Given the description of an element on the screen output the (x, y) to click on. 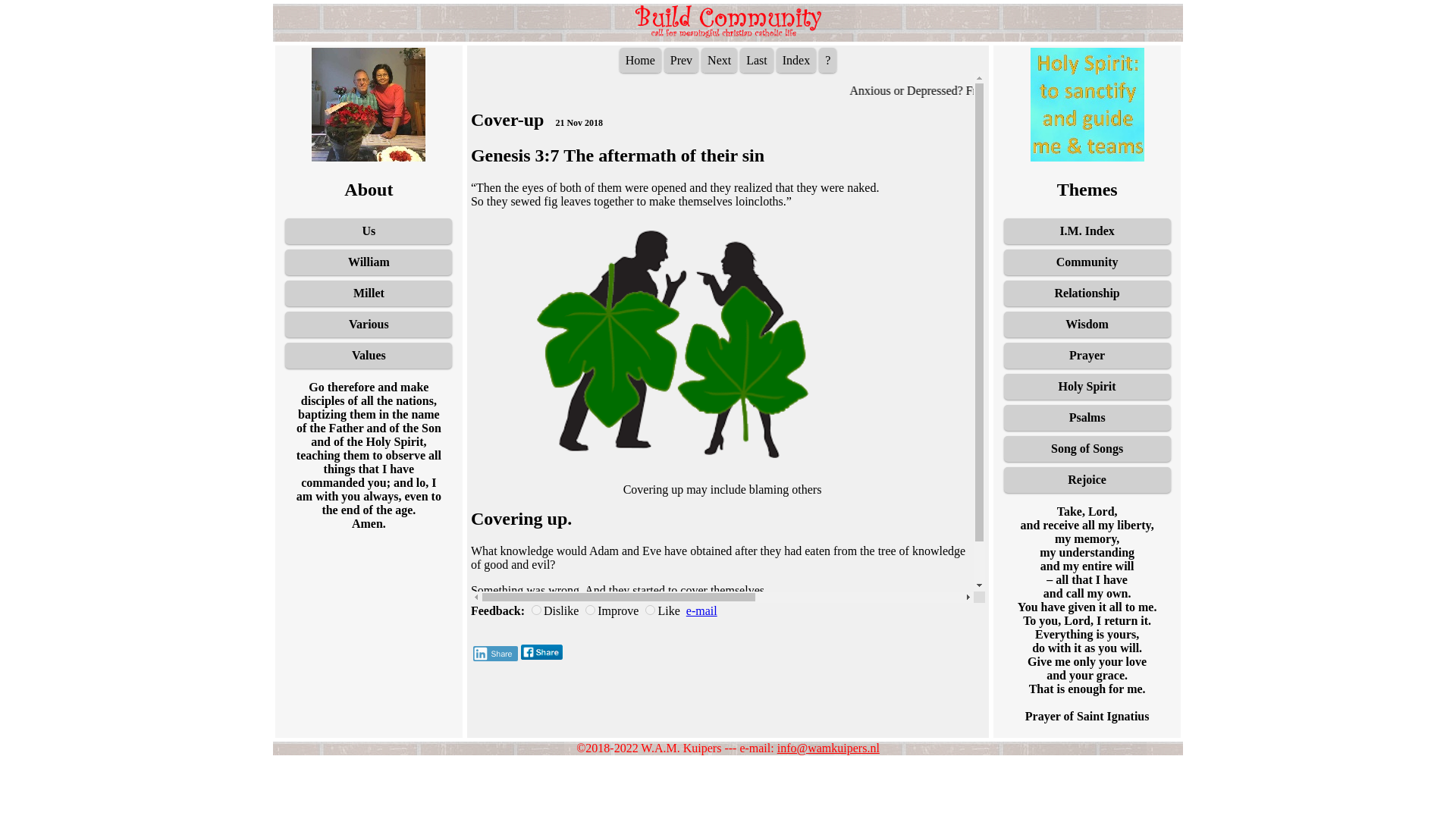
? (826, 60)
Last (756, 60)
Prev (680, 60)
Next (718, 60)
Us (368, 231)
Home (640, 60)
e-mail (701, 610)
Various (368, 324)
Values (368, 355)
Share (495, 653)
like (650, 610)
dislike (536, 610)
William (368, 262)
Millet (368, 293)
improve (590, 610)
